Given the description of an element on the screen output the (x, y) to click on. 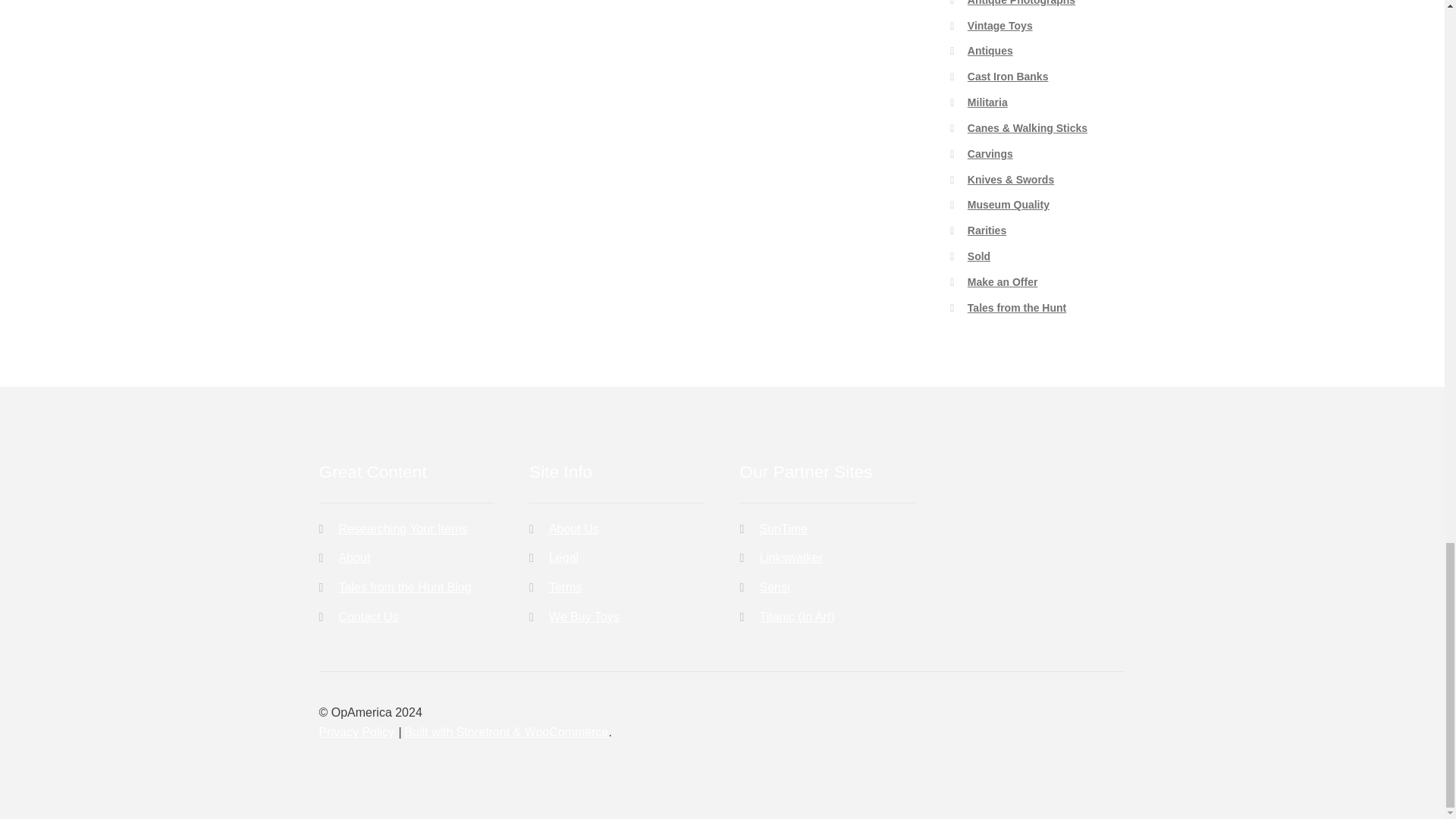
WooCommerce - The Best eCommerce Platform for WordPress (506, 731)
